Given the description of an element on the screen output the (x, y) to click on. 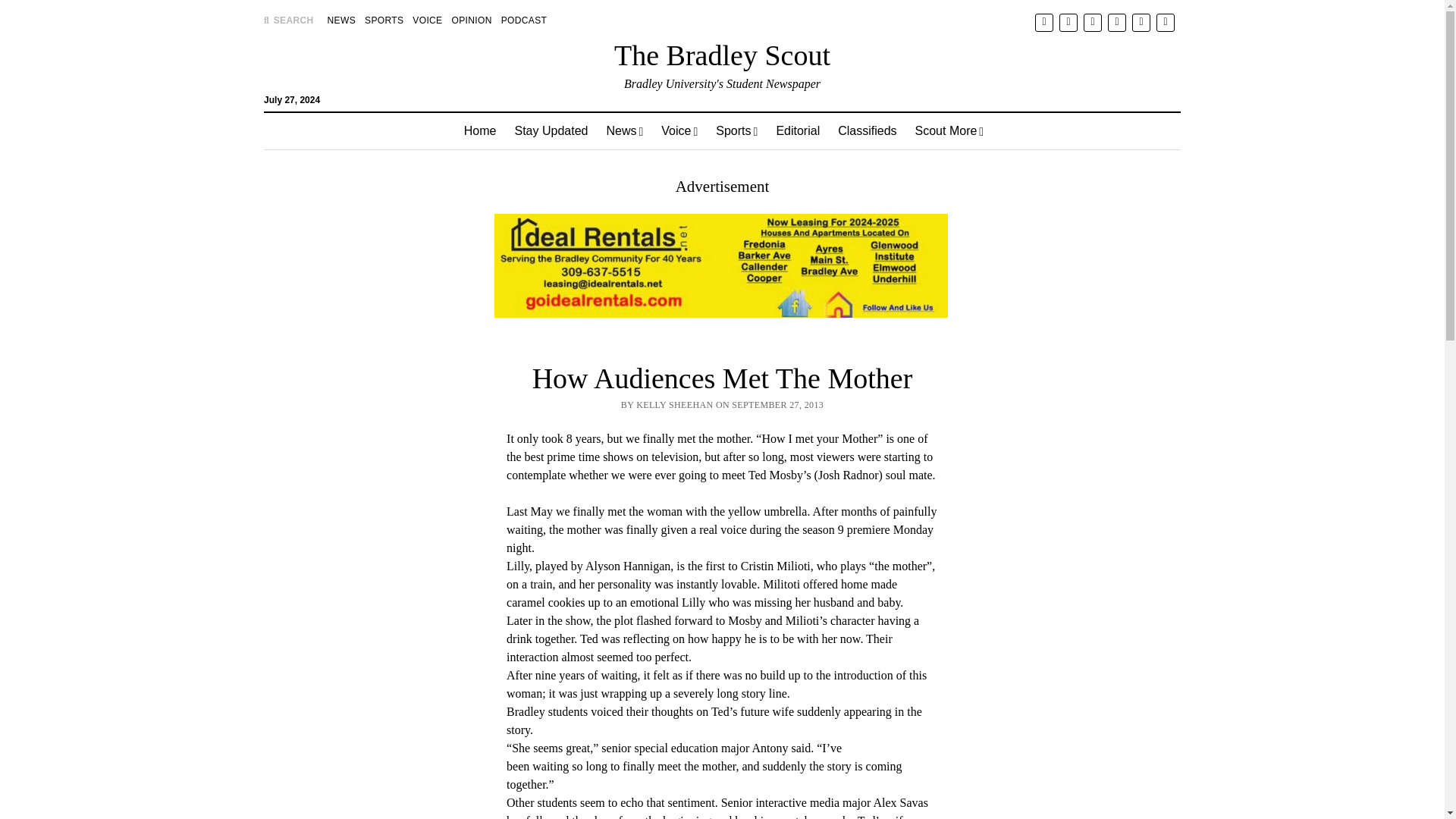
OPINION (471, 20)
SPORTS (384, 20)
News (624, 131)
SEARCH (288, 20)
Search (945, 129)
PODCAST (523, 20)
Editorial (797, 131)
Scout More (948, 131)
Home (479, 131)
Classifieds (866, 131)
Sports (736, 131)
The Bradley Scout (721, 55)
Voice (679, 131)
Stay Updated (550, 131)
NEWS (341, 20)
